Given the description of an element on the screen output the (x, y) to click on. 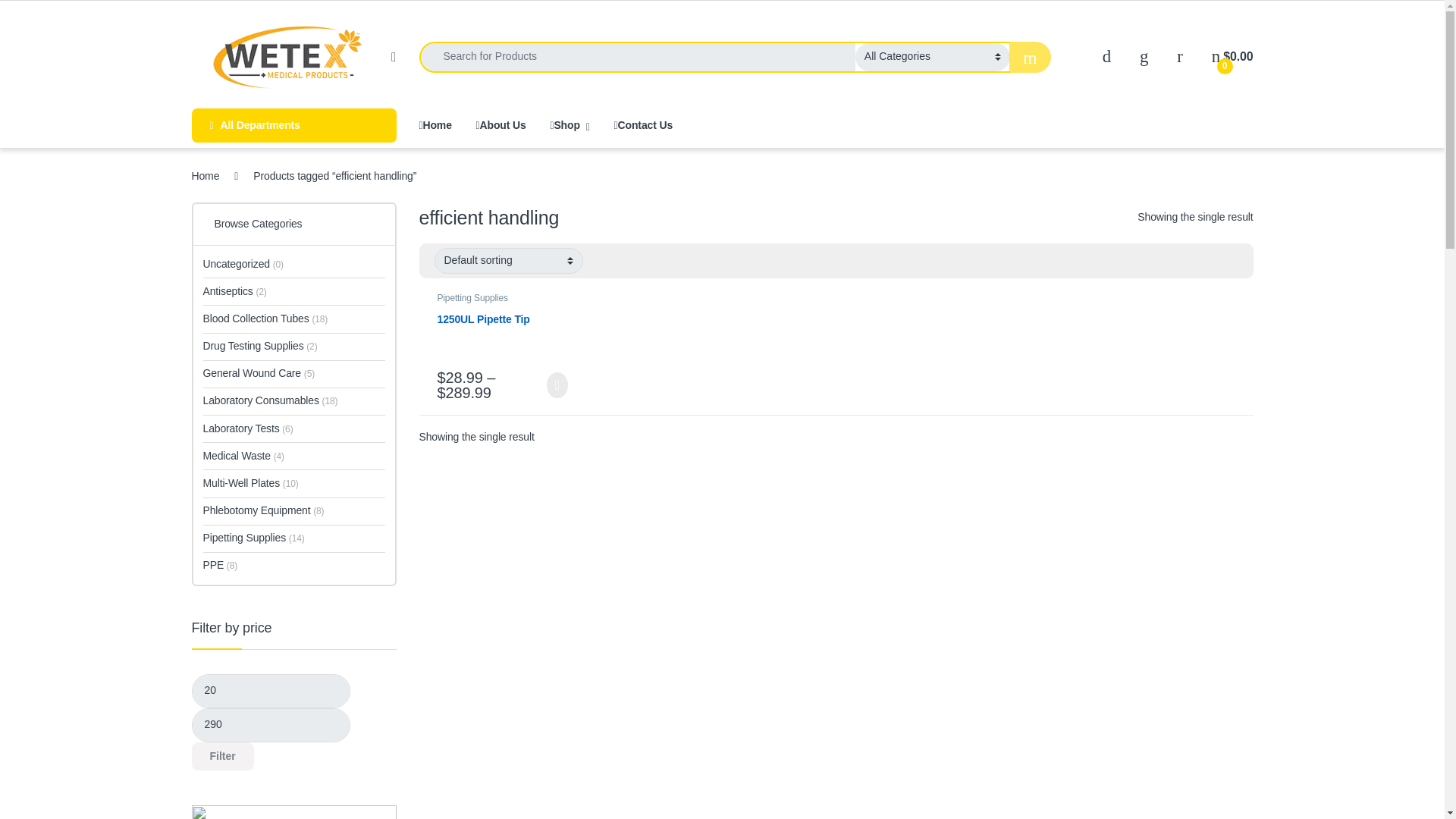
All Departments (293, 125)
20 (269, 691)
290 (269, 725)
